Given the description of an element on the screen output the (x, y) to click on. 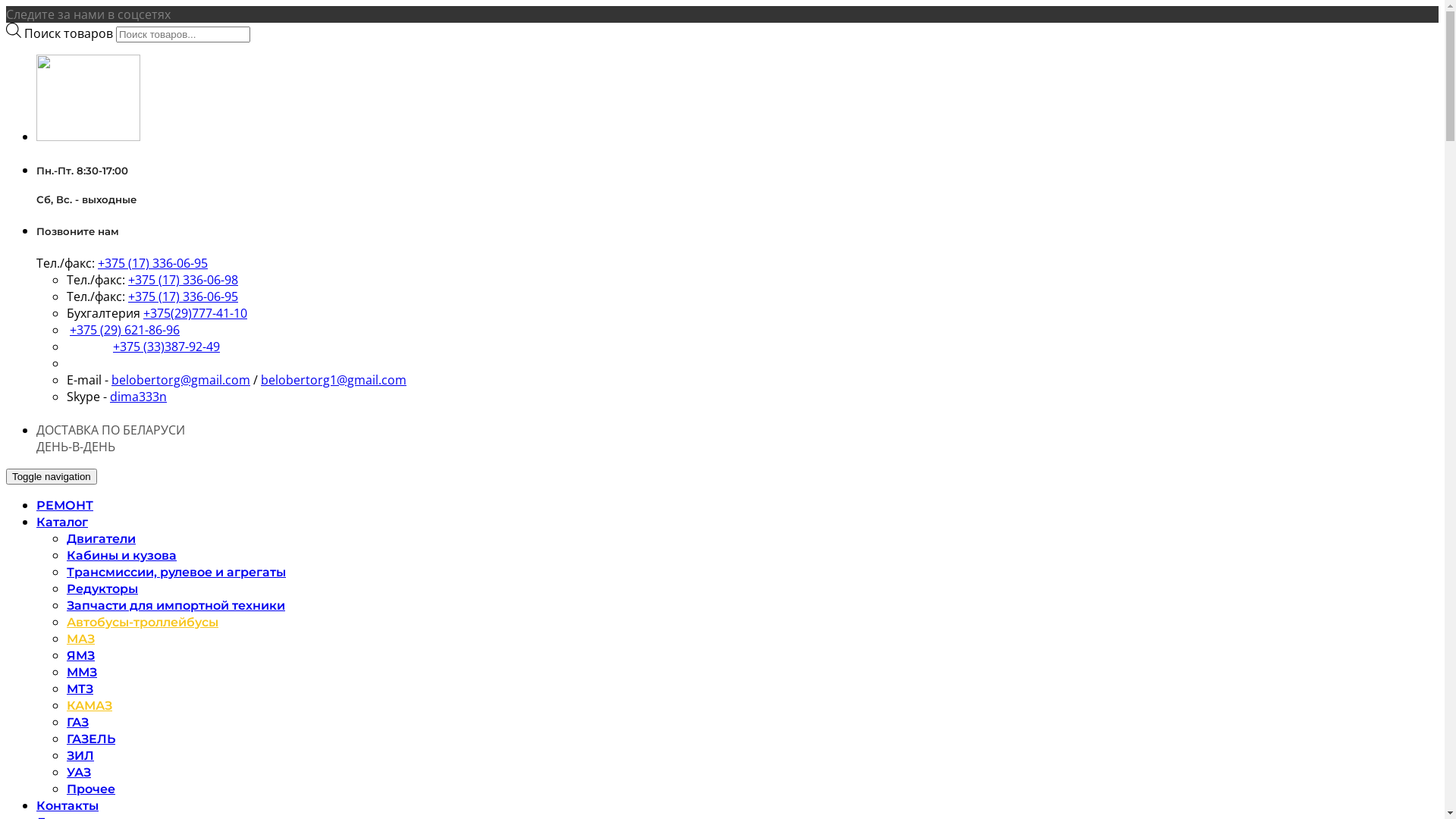
Toggle navigation Element type: text (51, 476)
+375(29)777-41-10 Element type: text (195, 312)
+375 (29) 621-86-96 Element type: text (124, 329)
+375 (17) 336-06-95 Element type: text (183, 296)
belobertorg1@gmail.com Element type: text (333, 379)
+375 (17) 336-06-95 Element type: text (152, 262)
+375 (17) 336-06-98 Element type: text (183, 279)
belobertorg@gmail.com Element type: text (180, 379)
dima333n Element type: text (137, 396)
+375 (33)387-92-49 Element type: text (165, 346)
